Given the description of an element on the screen output the (x, y) to click on. 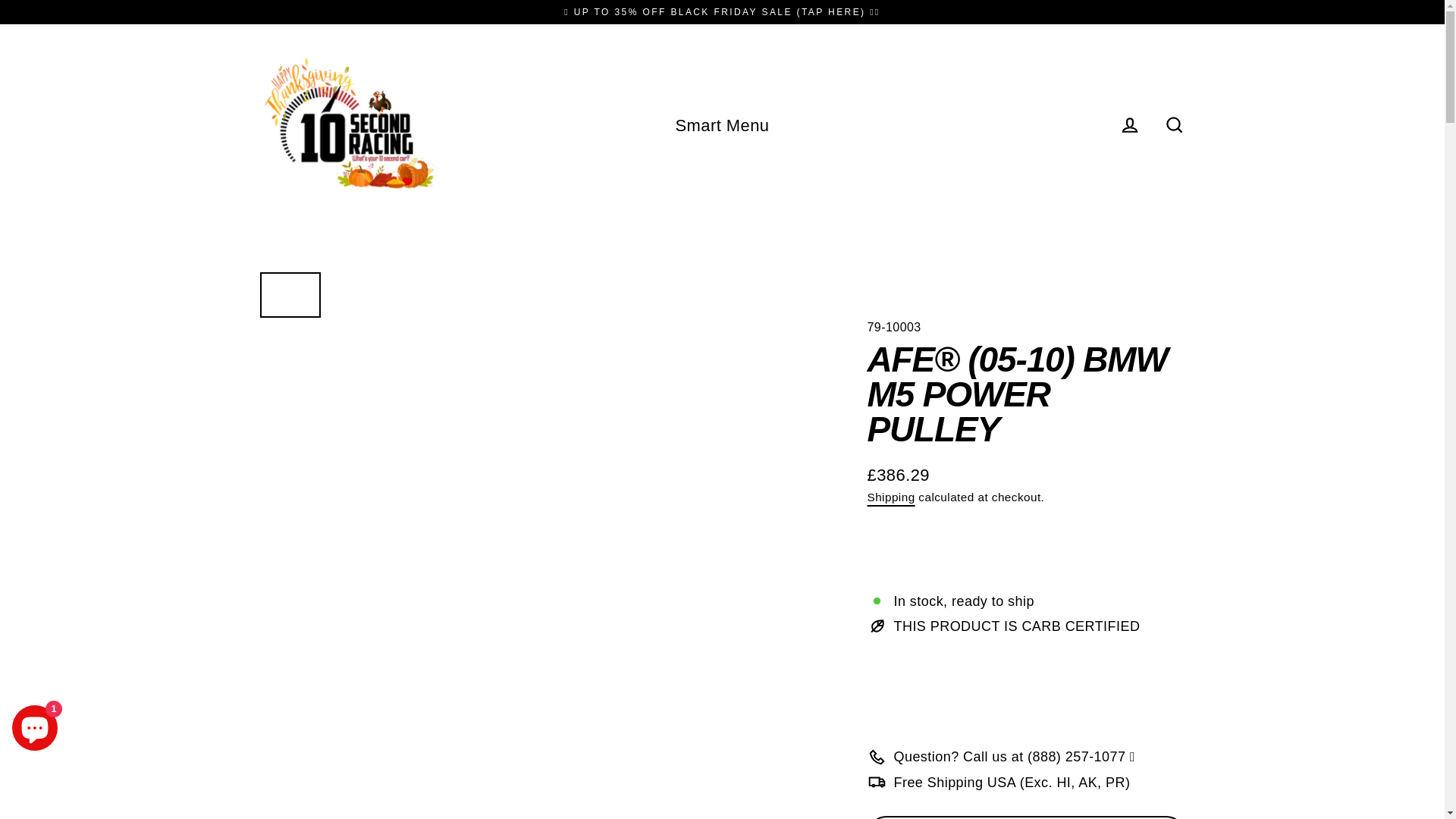
Smart Menu Element type: text (721, 125)
Log in Element type: text (1129, 125)
Search Element type: text (1173, 125)
Skip to content Element type: text (0, 0)
Shipping Element type: text (891, 496)
Shopify online store chat Element type: hover (34, 724)
